Given the description of an element on the screen output the (x, y) to click on. 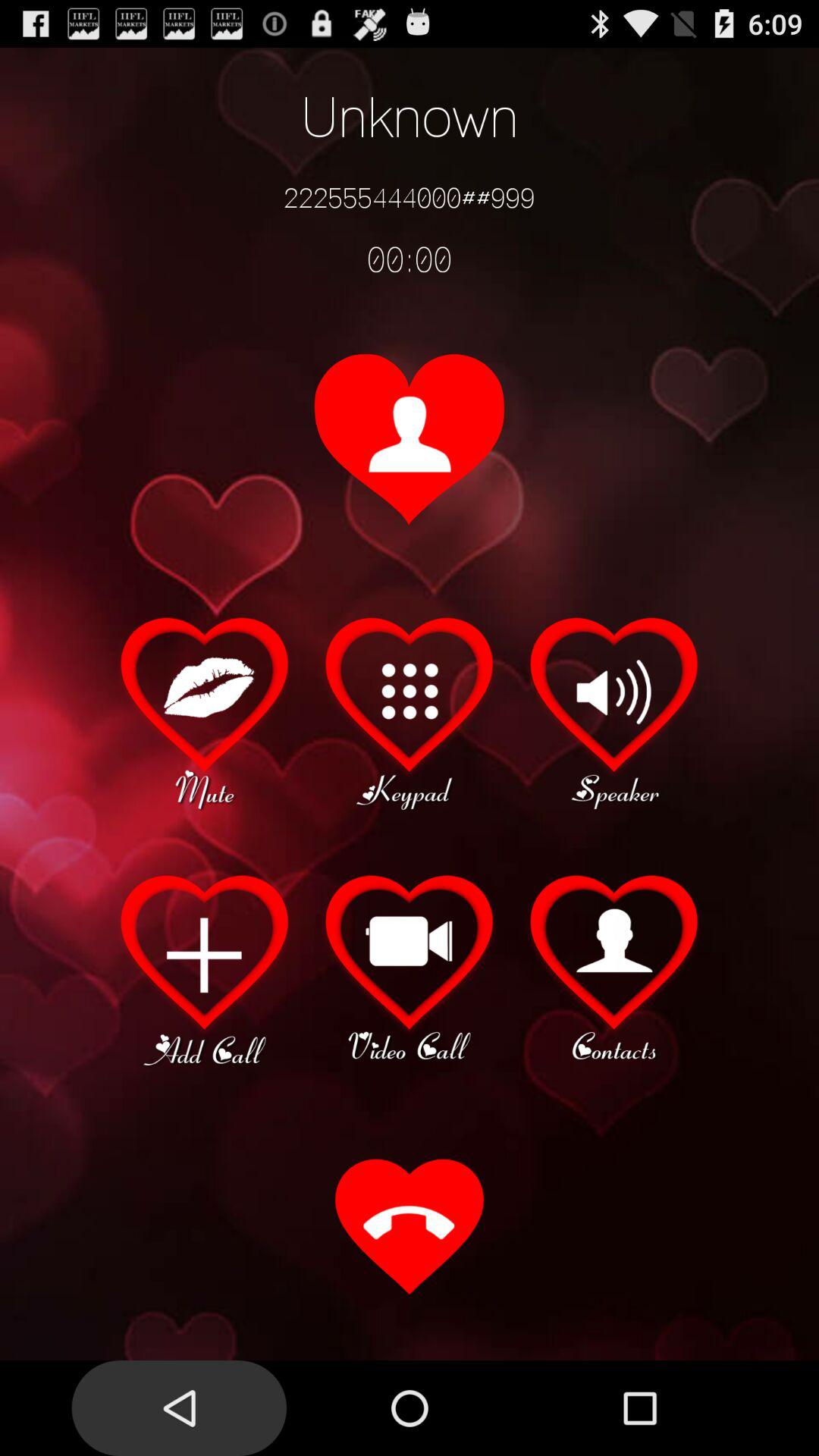
go emoji (204, 711)
